Given the description of an element on the screen output the (x, y) to click on. 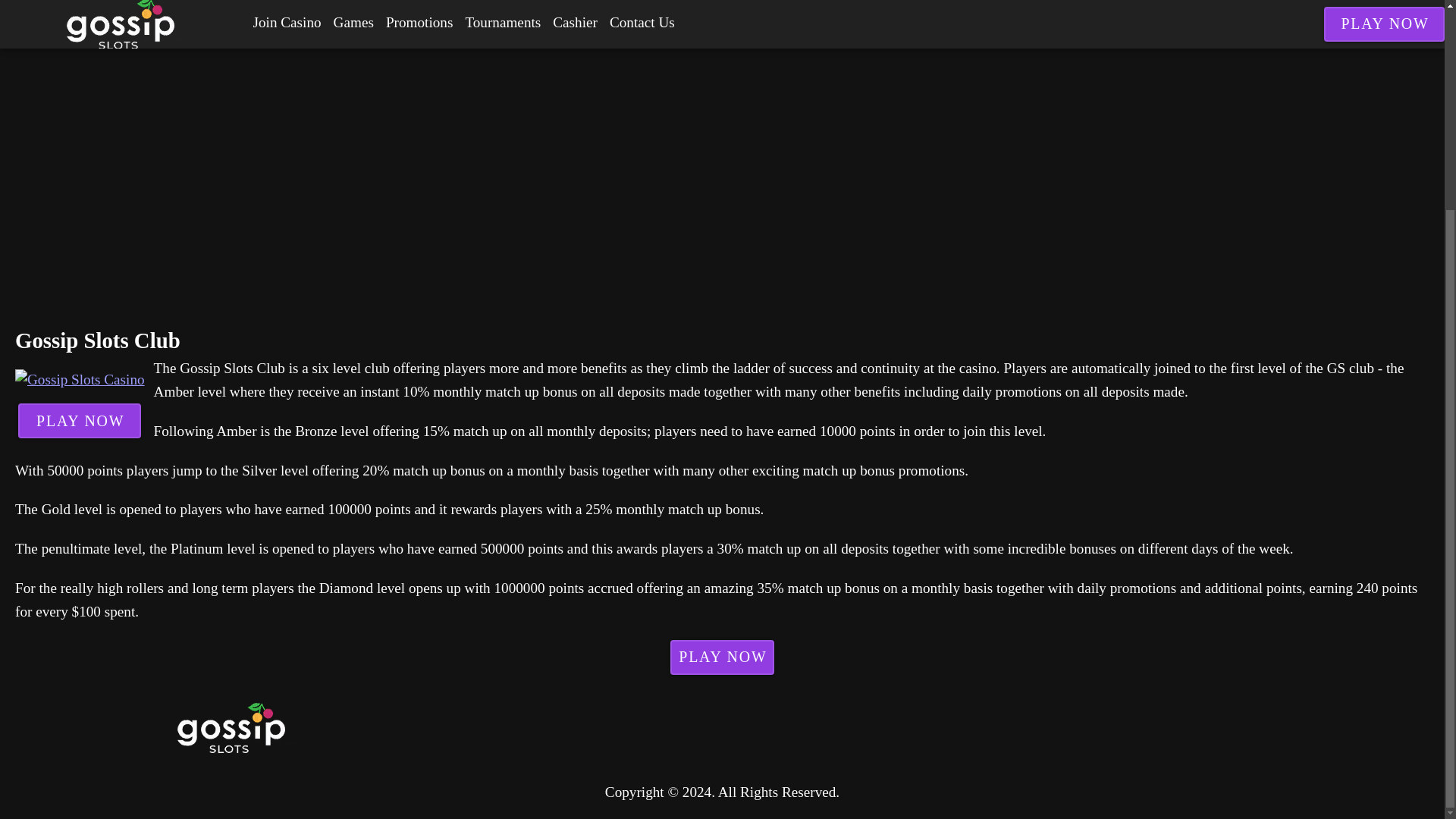
PLAY NOW (79, 420)
PLAY NOW (721, 656)
